Given the description of an element on the screen output the (x, y) to click on. 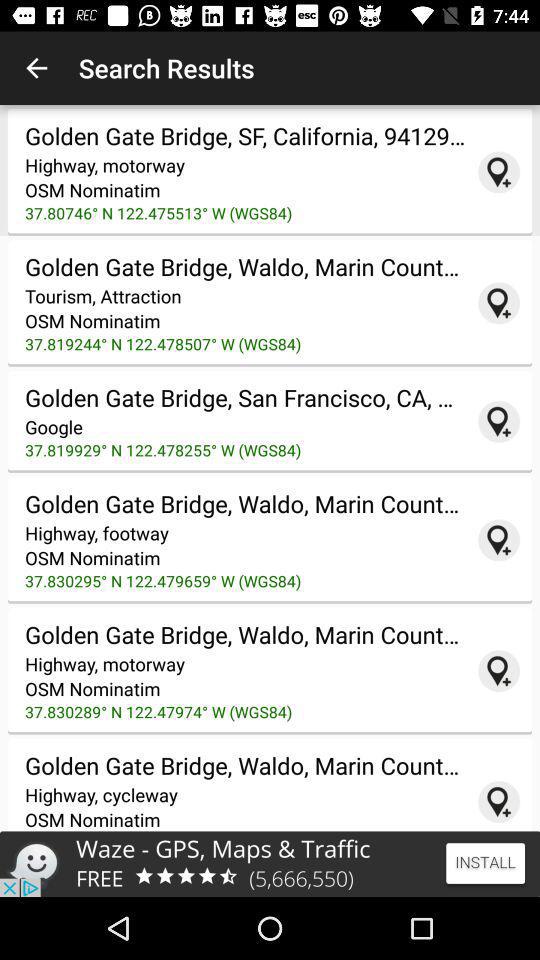
google seach (499, 802)
